Given the description of an element on the screen output the (x, y) to click on. 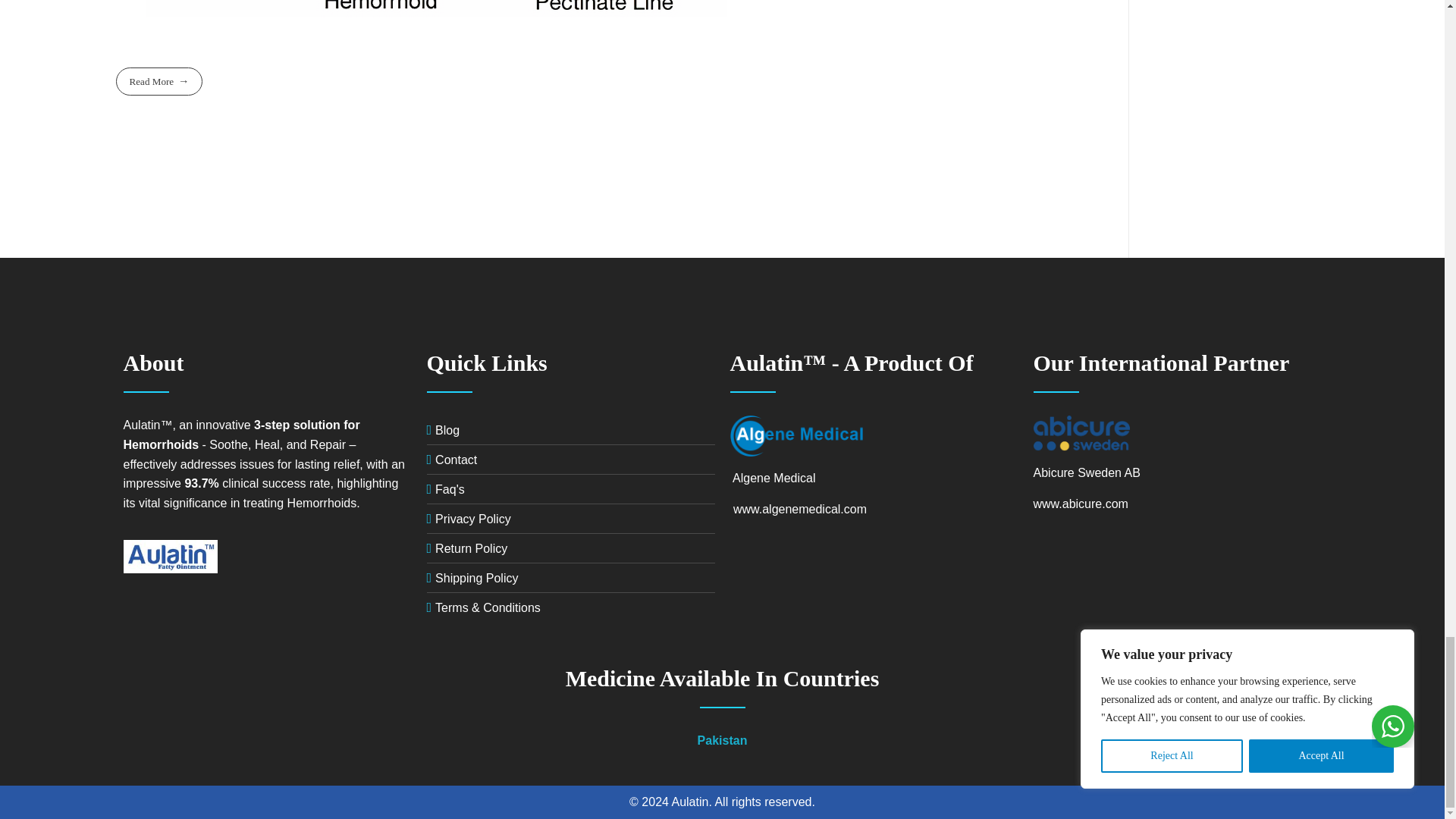
Aulatin (200, 556)
Read More (158, 81)
Aulatin (153, 581)
